Given the description of an element on the screen output the (x, y) to click on. 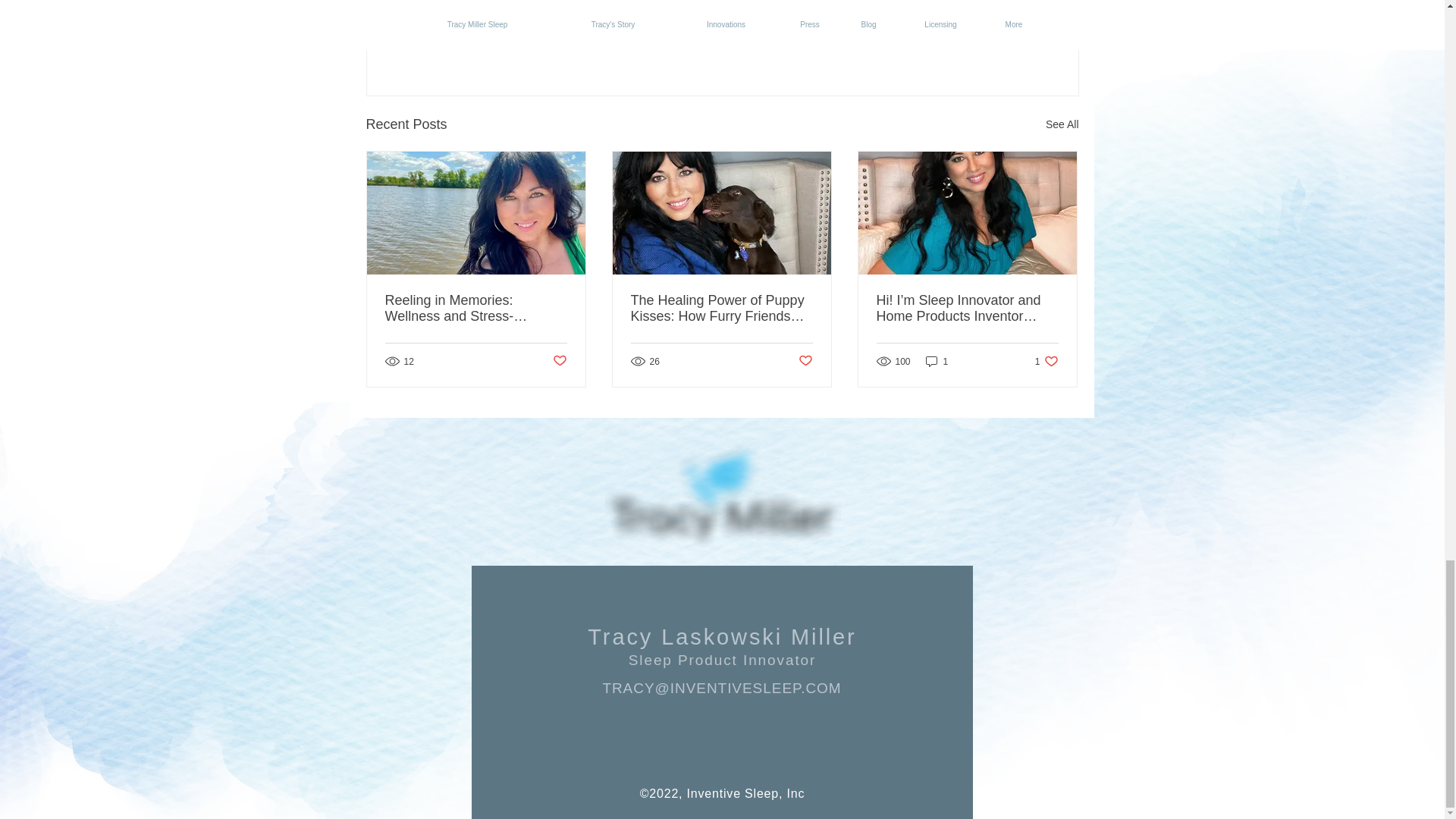
See All (1061, 124)
Post not marked as liked (558, 360)
Post not marked as liked (995, 41)
